Given the description of an element on the screen output the (x, y) to click on. 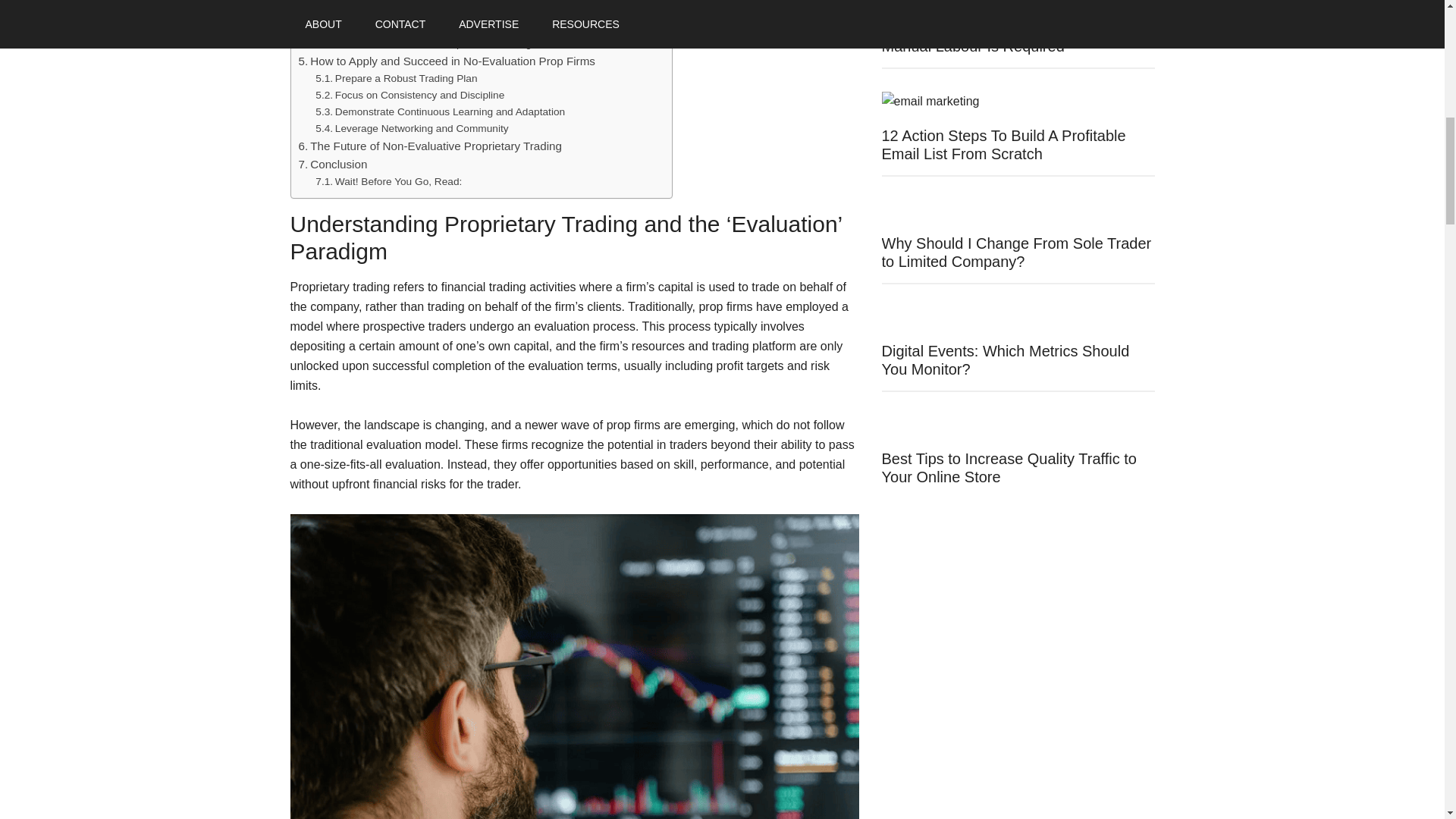
The Future of Non-Evaluative Proprietary Trading (430, 146)
Focus on Consistency and Discipline (409, 95)
How to Apply and Succeed in No-Evaluation Prop Firms (446, 61)
Prepare a Robust Trading Plan (396, 78)
Leverage Networking and Community (411, 128)
Wait! Before You Go, Read: (388, 181)
